Given the description of an element on the screen output the (x, y) to click on. 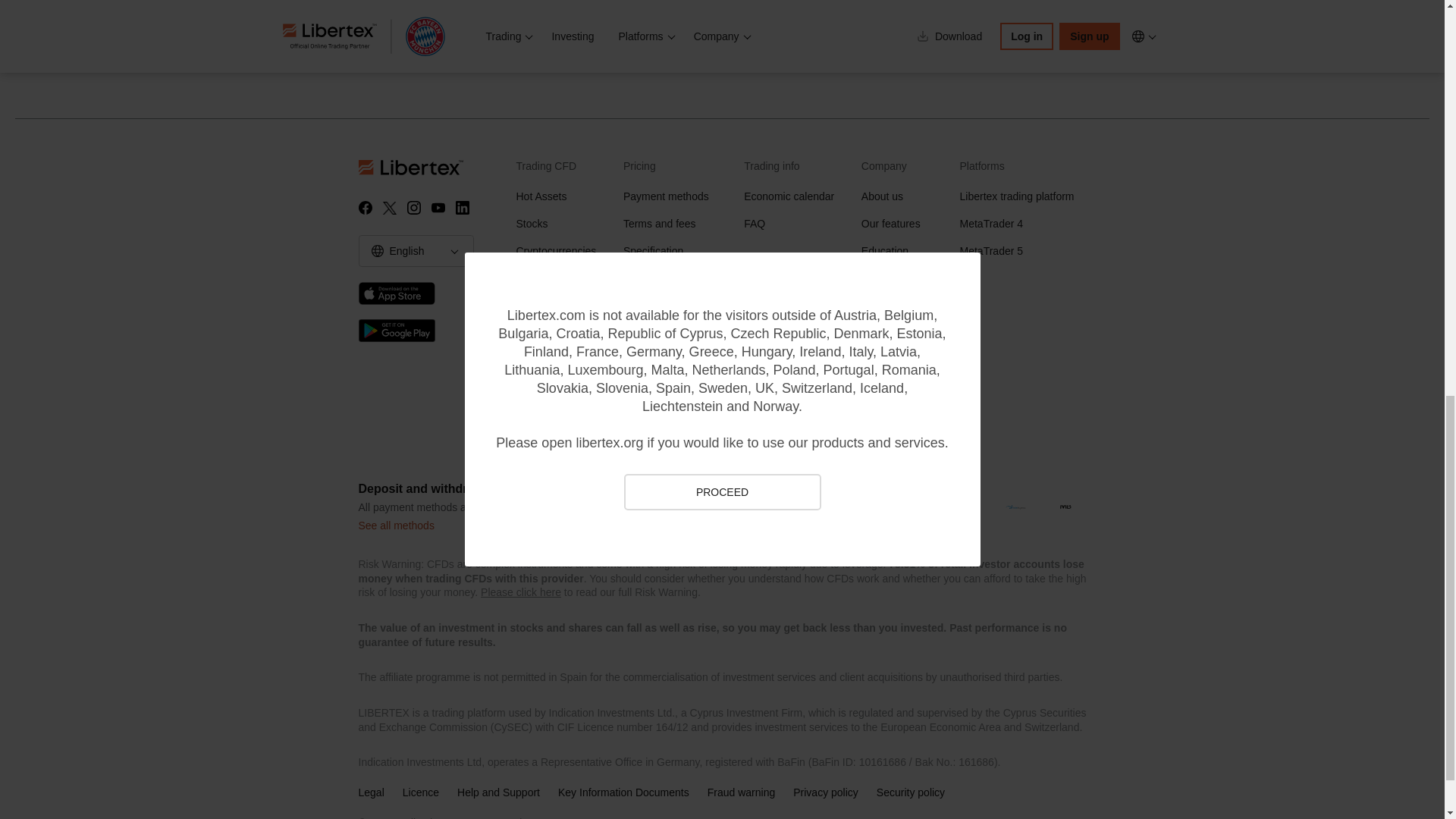
Libertex (430, 167)
English (377, 250)
